Given the description of an element on the screen output the (x, y) to click on. 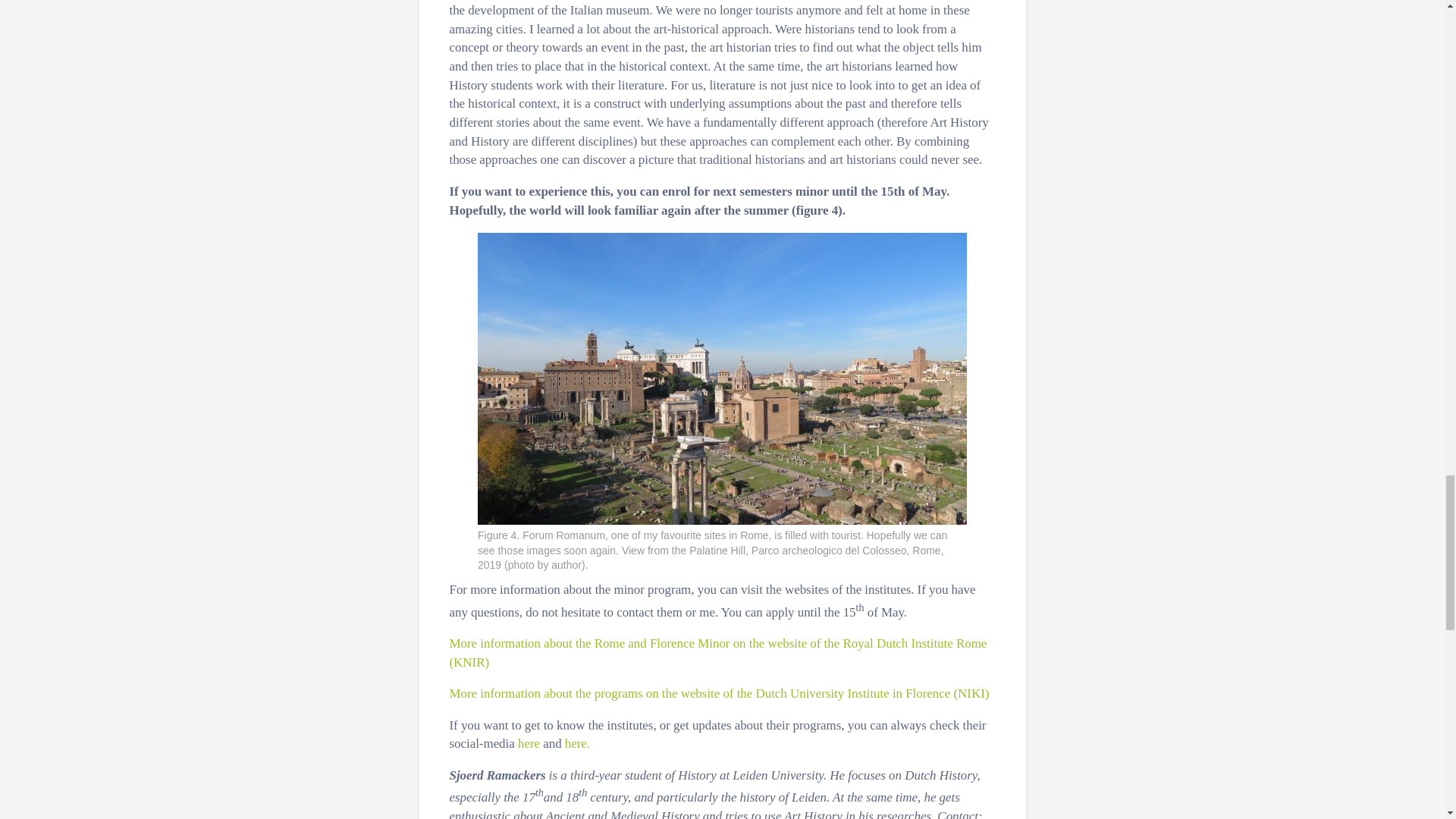
here. (576, 743)
here (529, 743)
